Given the description of an element on the screen output the (x, y) to click on. 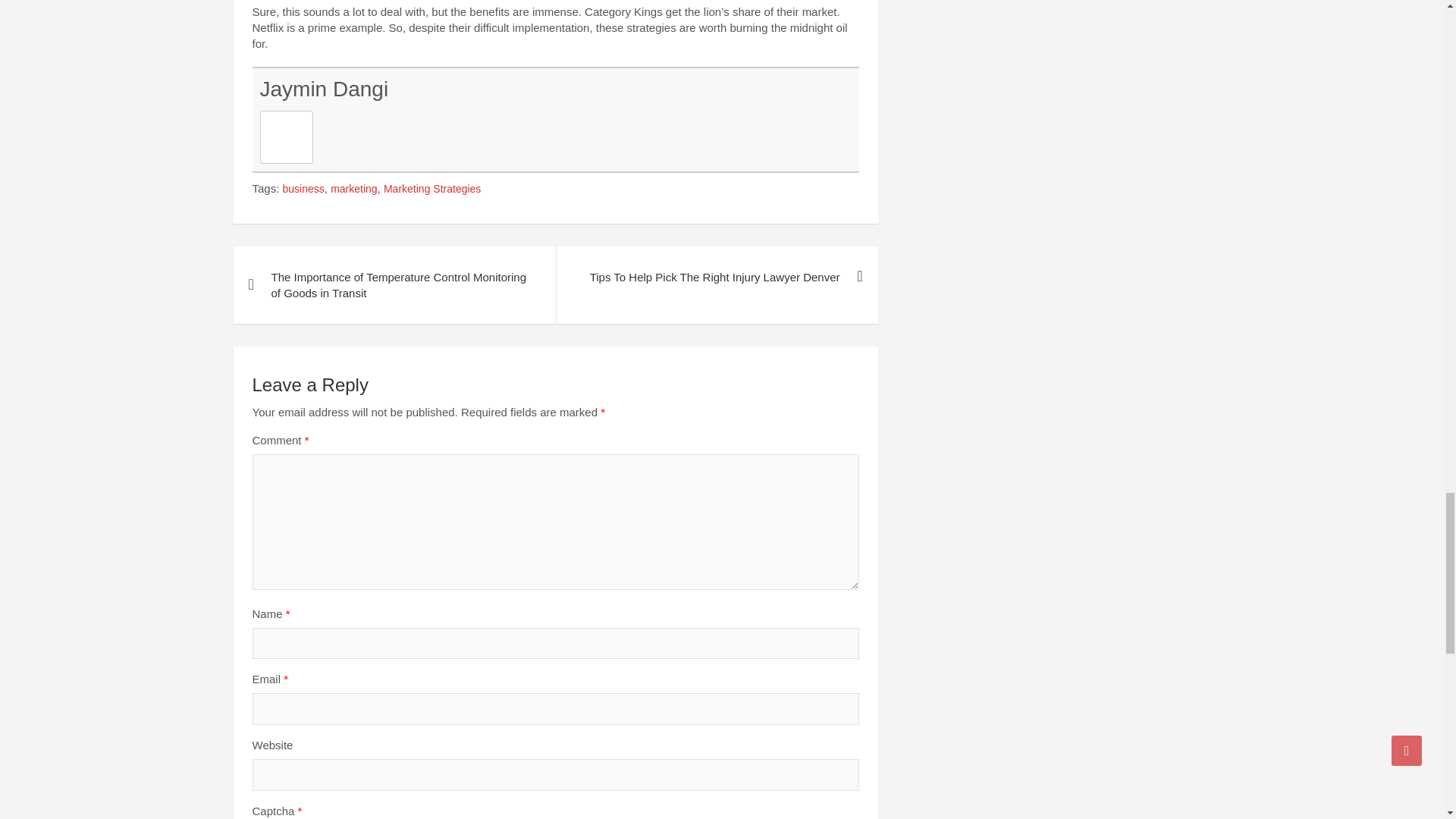
All posts by Jaymin Dangi (323, 88)
